Given the description of an element on the screen output the (x, y) to click on. 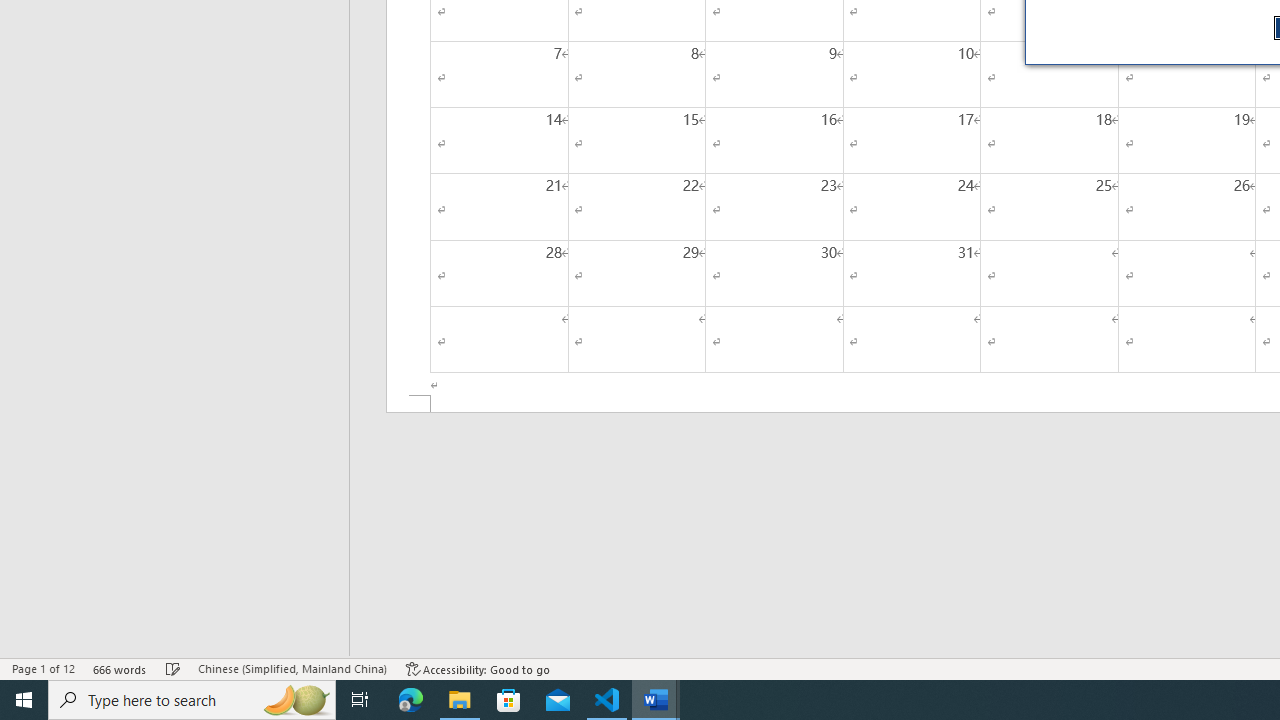
Microsoft Store (509, 699)
Language Chinese (Simplified, Mainland China) (292, 668)
Microsoft Edge (411, 699)
Task View (359, 699)
Visual Studio Code - 1 running window (607, 699)
Start (24, 699)
Search highlights icon opens search home window (295, 699)
Word Count 666 words (119, 668)
Spelling and Grammar Check Checking (173, 668)
Accessibility Checker Accessibility: Good to go (478, 668)
Word - 2 running windows (656, 699)
Page Number Page 1 of 12 (43, 668)
Type here to search (191, 699)
